Given the description of an element on the screen output the (x, y) to click on. 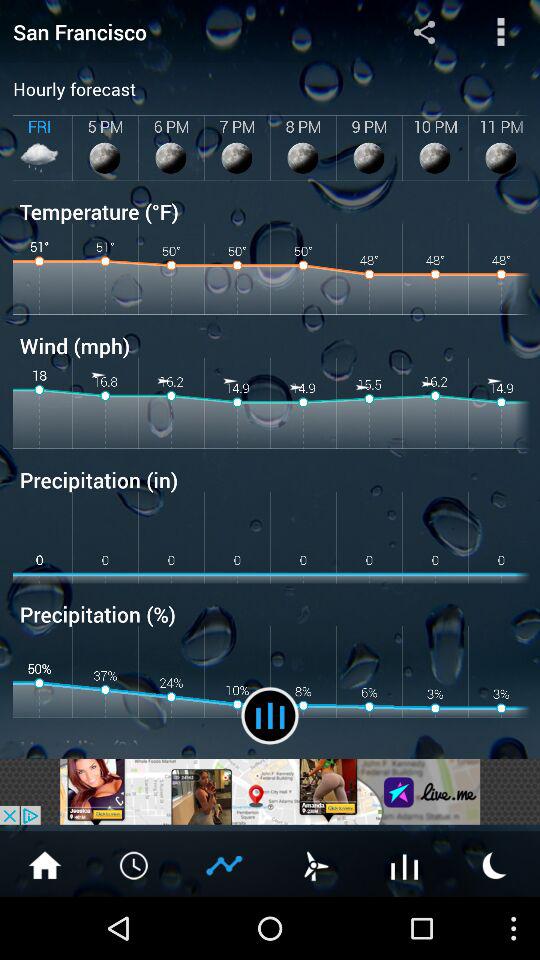
view temperature graphs (405, 864)
